Given the description of an element on the screen output the (x, y) to click on. 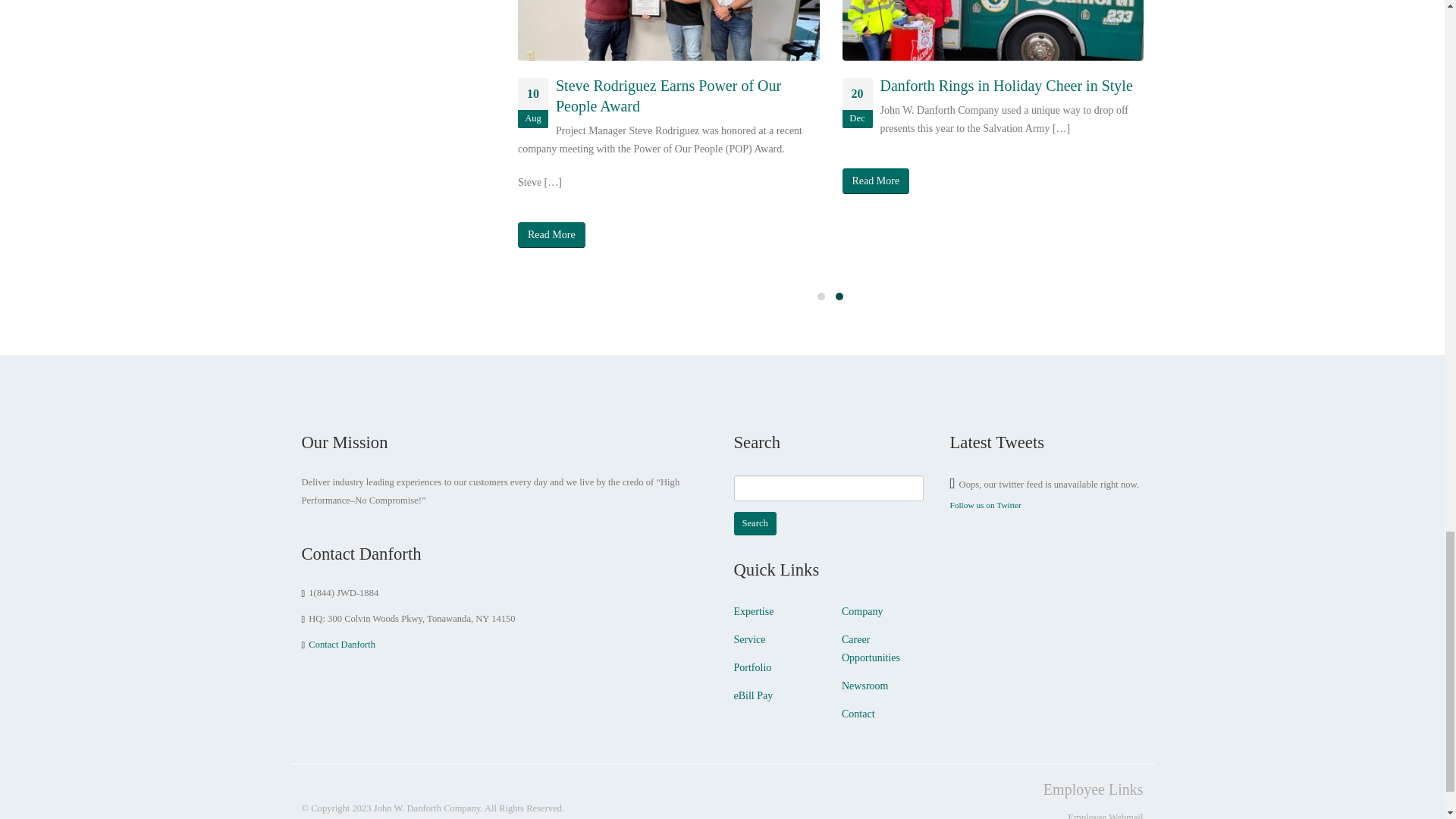
Search (754, 523)
